Given the description of an element on the screen output the (x, y) to click on. 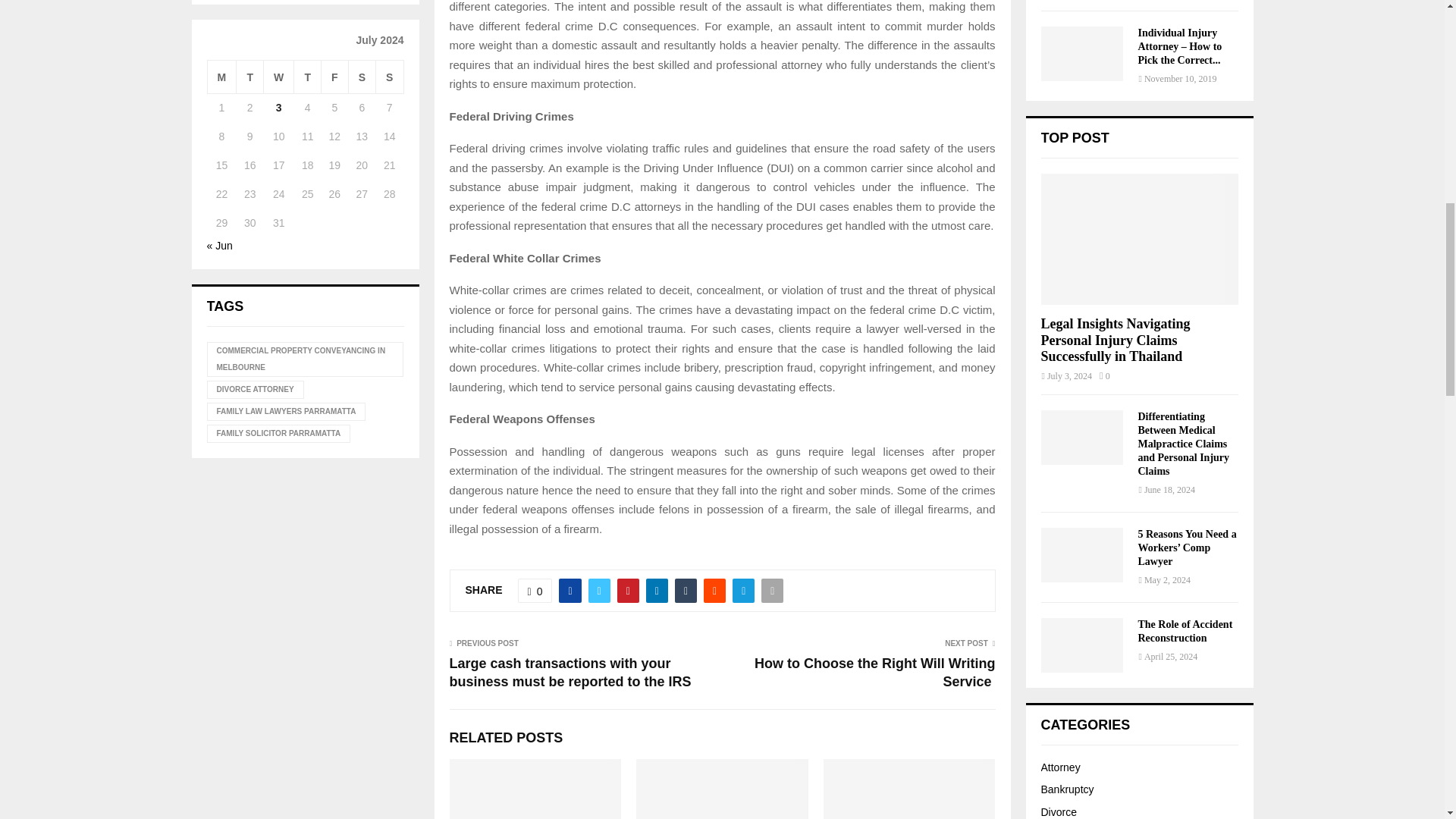
Like (535, 590)
0 (535, 590)
